Given the description of an element on the screen output the (x, y) to click on. 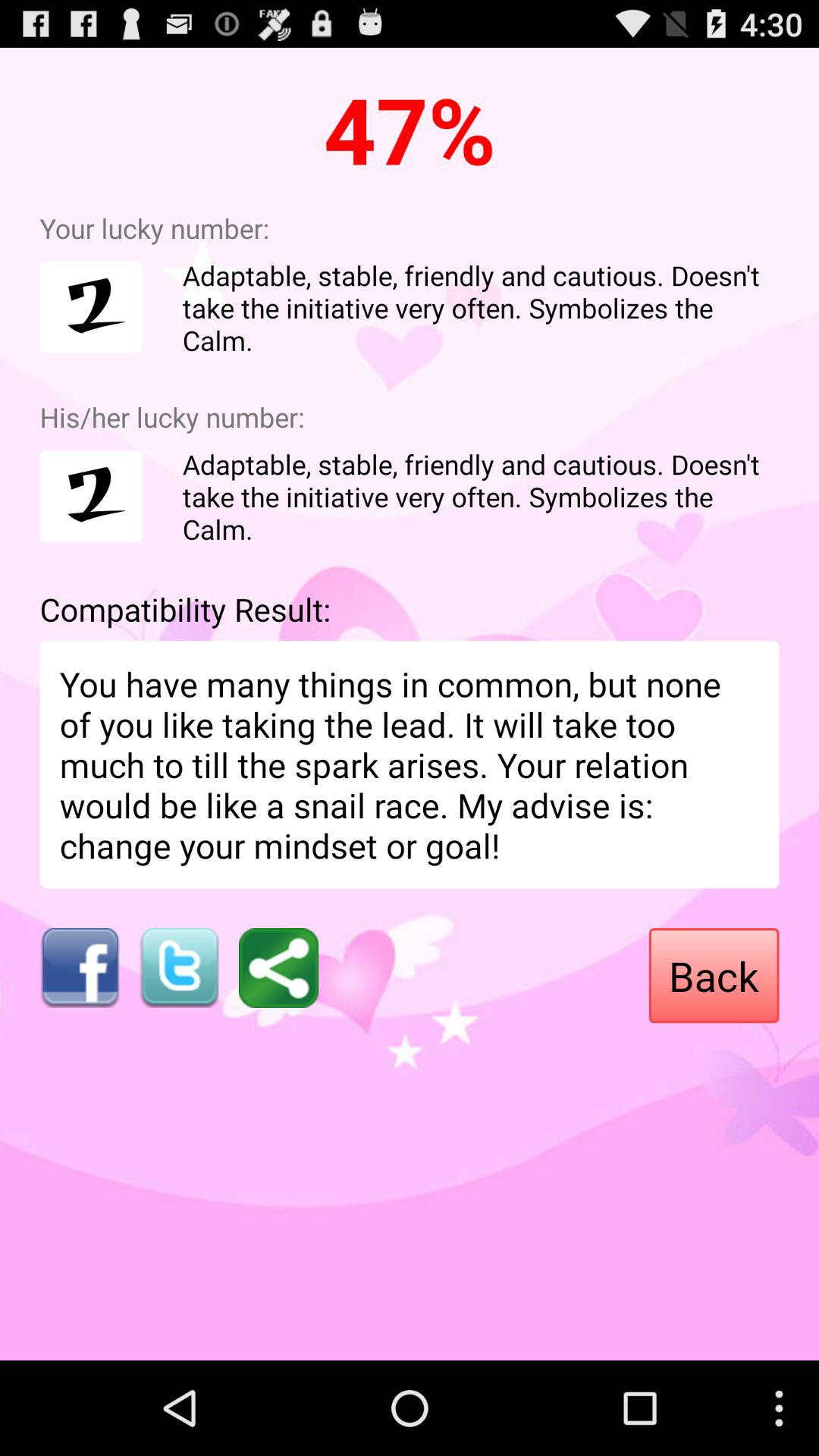
select facebook (79, 967)
